Given the description of an element on the screen output the (x, y) to click on. 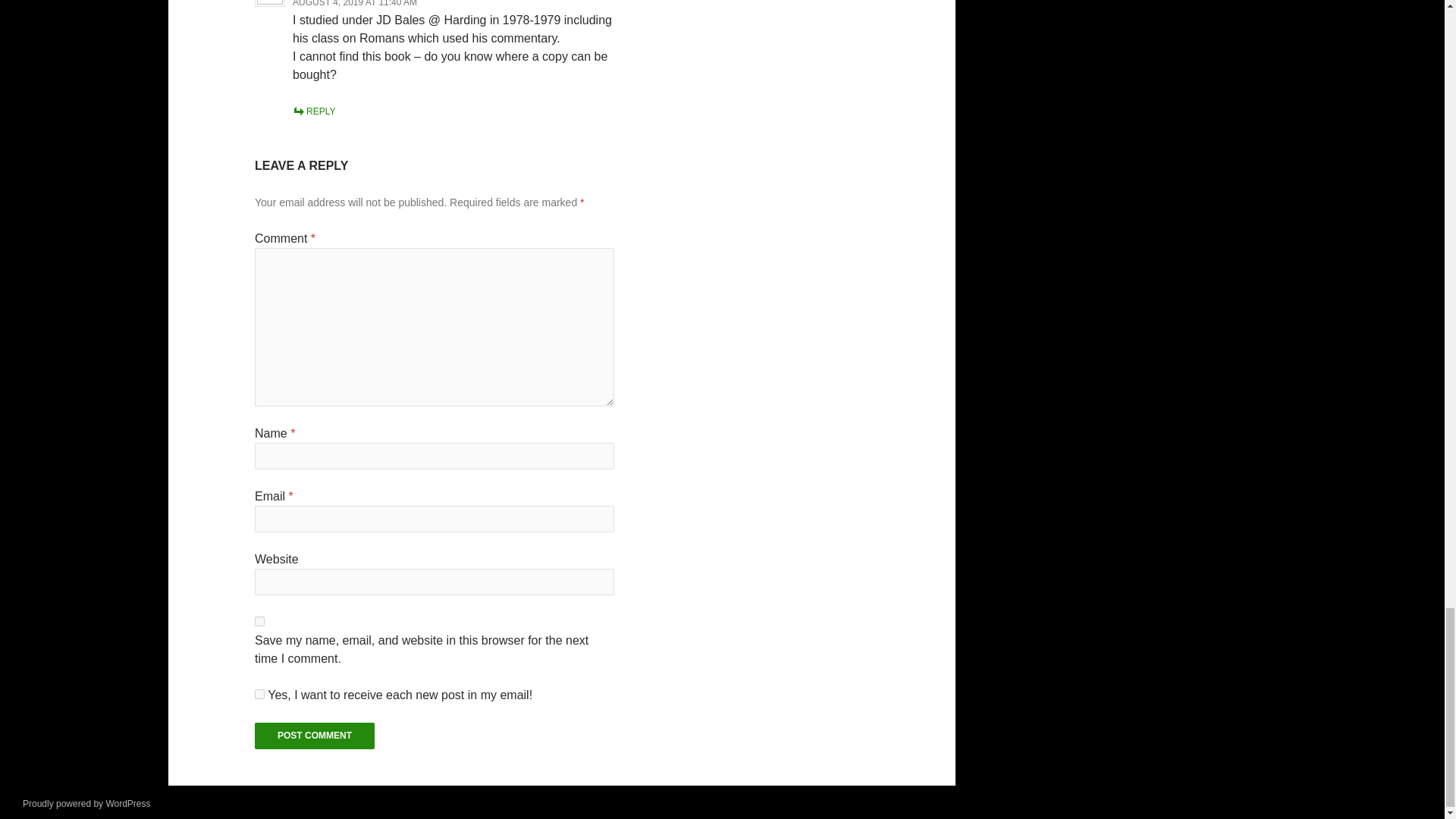
yes (259, 621)
Post Comment (314, 735)
1 (259, 694)
